Given the description of an element on the screen output the (x, y) to click on. 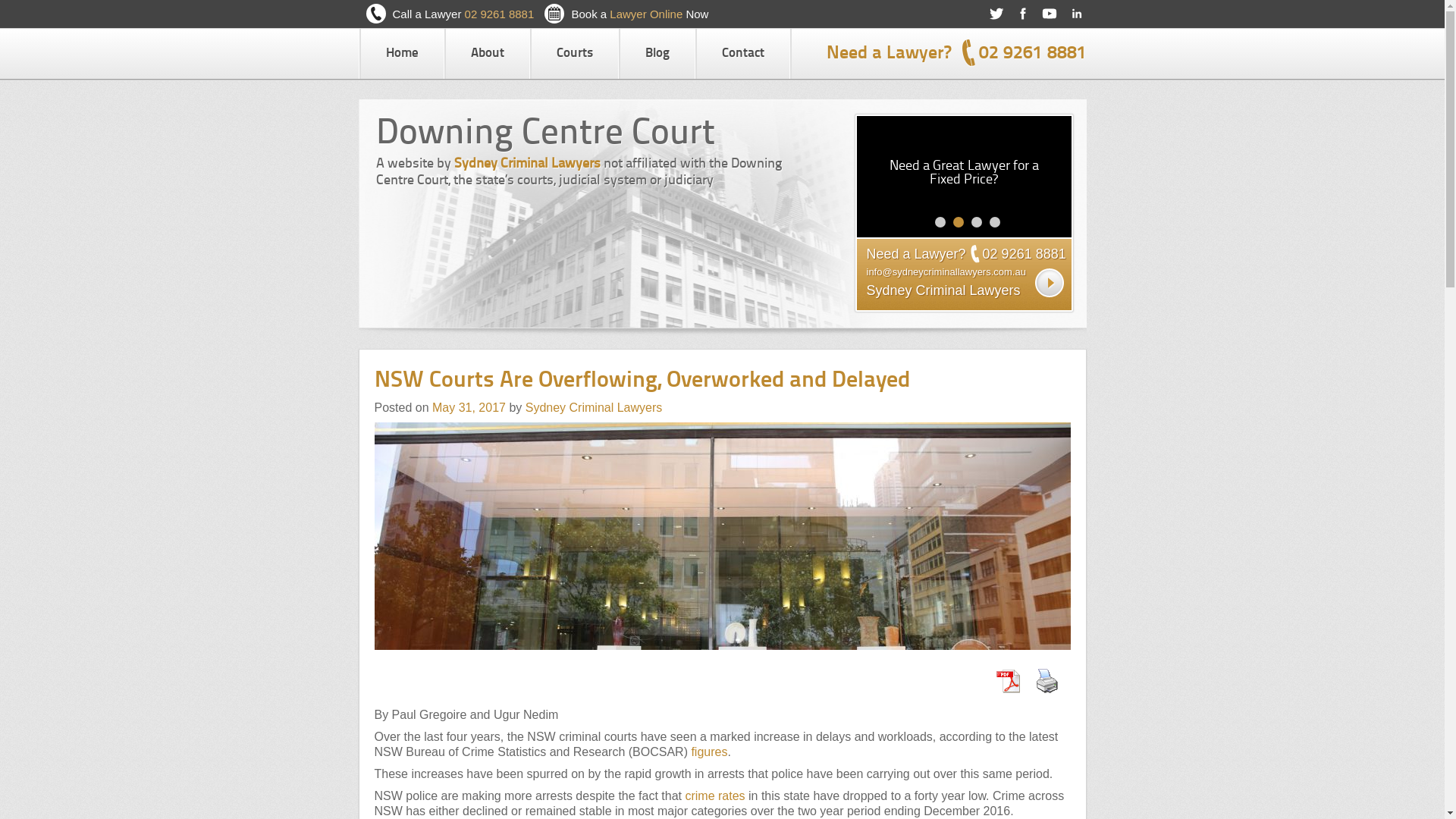
02 9261 8881 Element type: text (1024, 253)
May 31, 2017 Element type: text (468, 407)
info@sydneycriminallawyers.com.au Element type: text (945, 272)
Contact Element type: text (742, 53)
View PDF Element type: hover (1007, 680)
Book a Lawyer Online Now Element type: text (639, 13)
Sydney Criminal Lawyers Element type: text (942, 290)
About Element type: text (487, 53)
Sydney Criminal Lawyers Element type: text (593, 407)
Courts Element type: text (573, 53)
Home Element type: text (401, 53)
NSW Courts Are Overflowing, Overworked and Delayed Element type: text (642, 380)
Blog Element type: text (657, 53)
Print Content Element type: hover (1047, 680)
crime rates Element type: text (714, 795)
figures Element type: text (708, 751)
Call a Lawyer 02 9261 8881 Element type: text (463, 13)
